Given the description of an element on the screen output the (x, y) to click on. 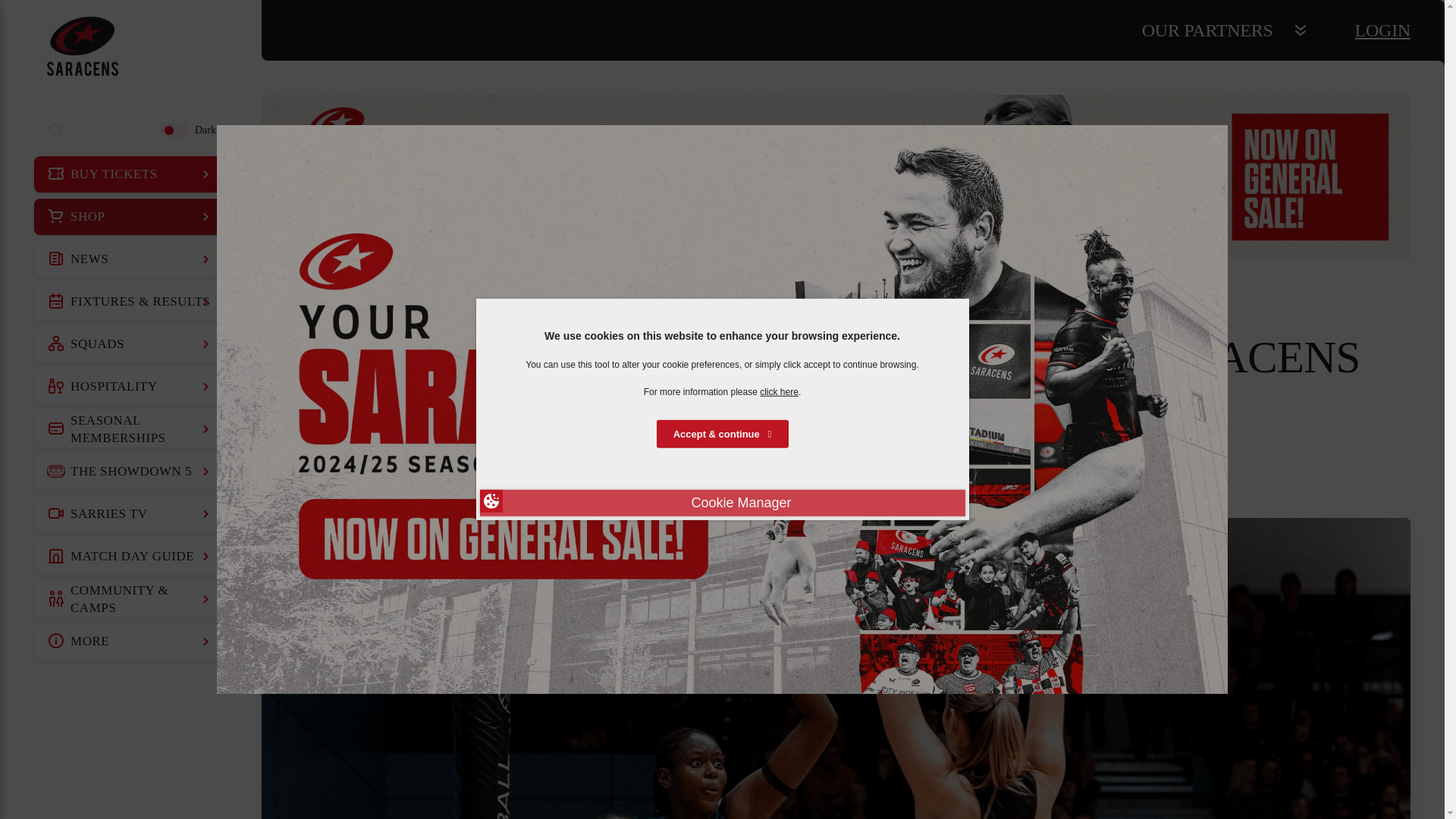
NEWS (130, 258)
LOGIN (1382, 29)
Search (55, 130)
SEASONAL MEMBERSHIPS (130, 429)
SARRIES TV (130, 514)
SQUADS (130, 343)
MATCH DAY GUIDE (130, 556)
BUY TICKETS (130, 174)
HOSPITALITY (130, 386)
Cookie Manager (721, 502)
SHOP (130, 217)
MORE (130, 641)
THE SHOWDOWN 5 (130, 471)
